Given the description of an element on the screen output the (x, y) to click on. 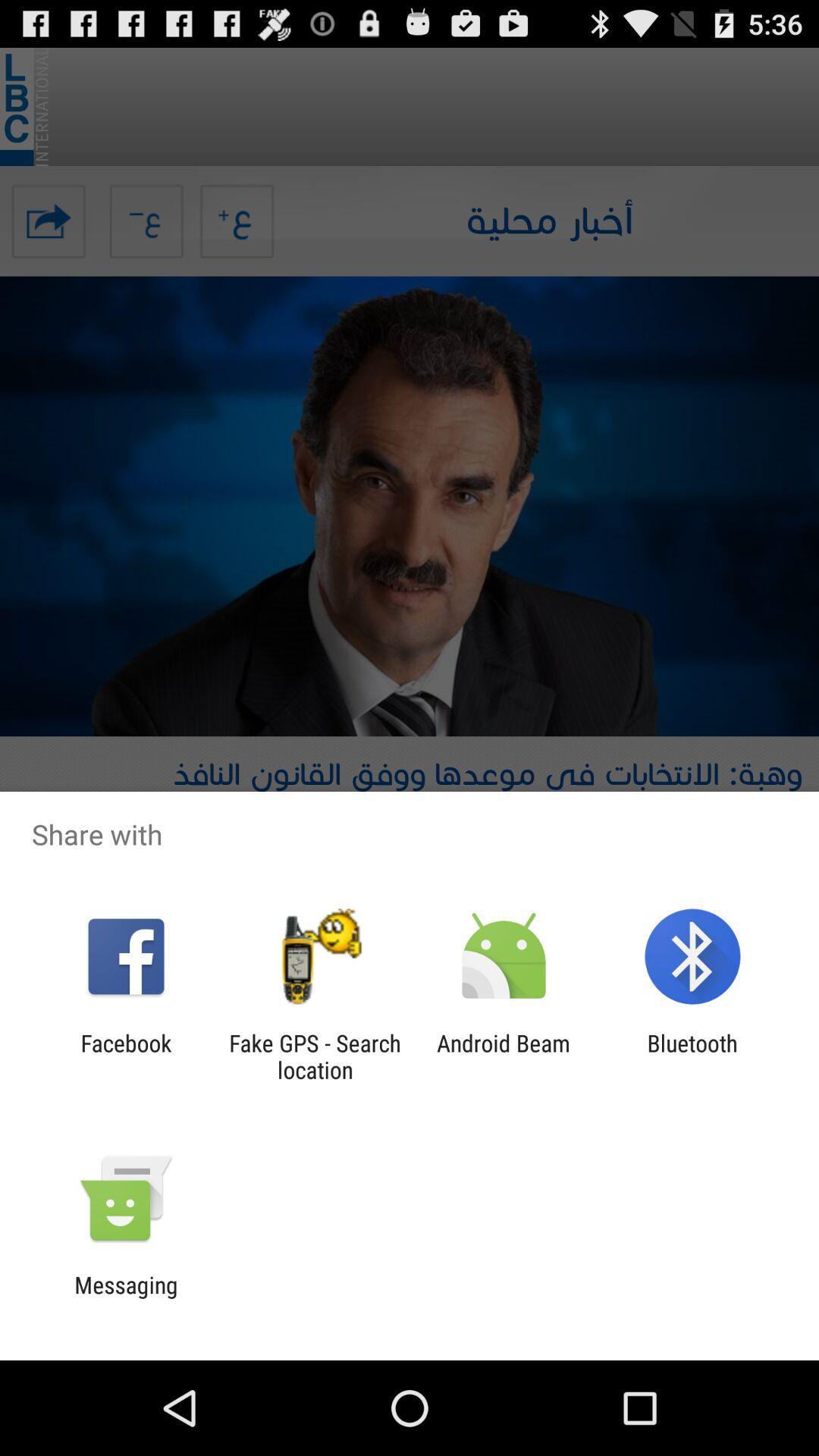
jump to fake gps search app (314, 1056)
